Given the description of an element on the screen output the (x, y) to click on. 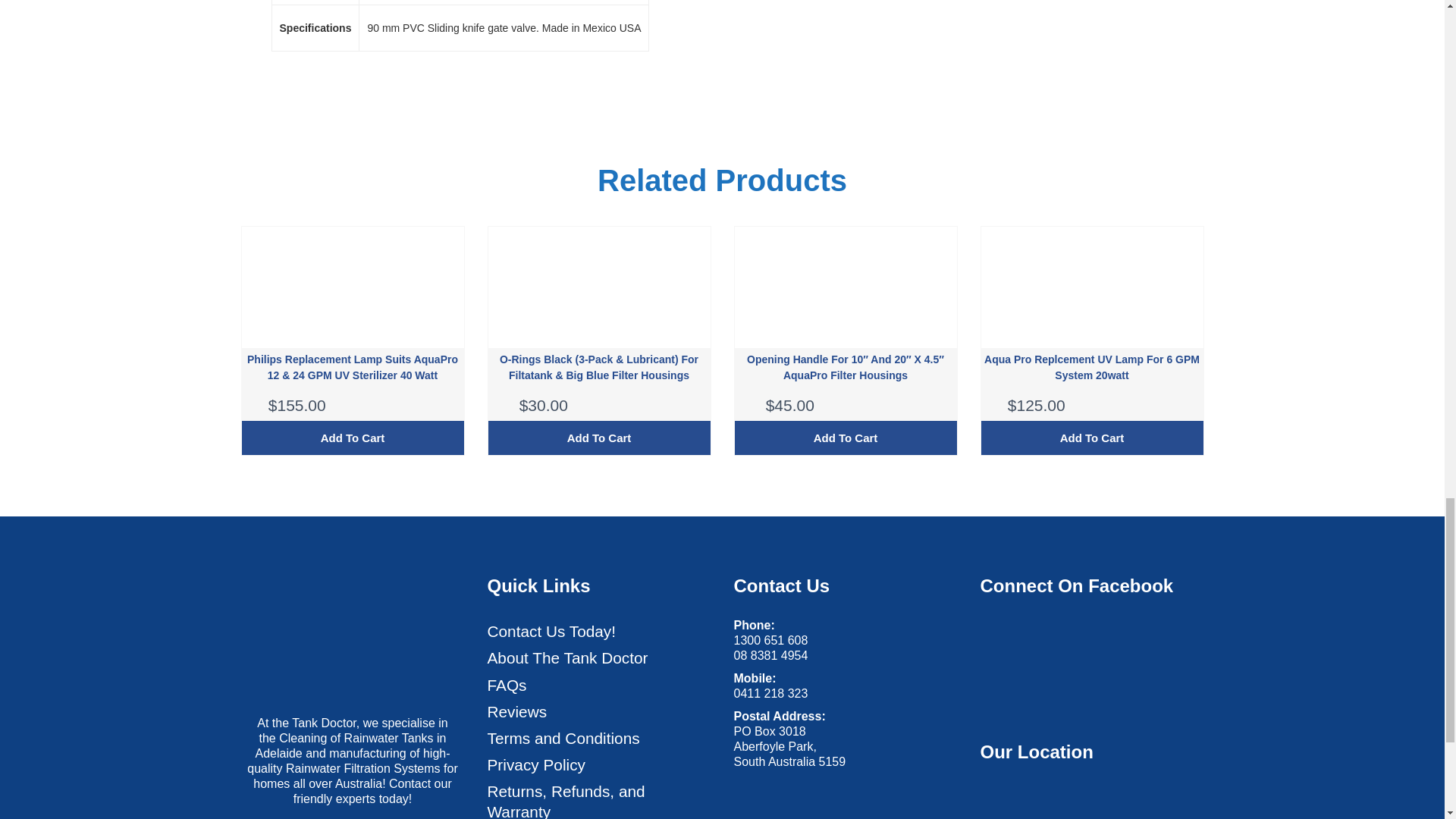
Aqua Pro Replcement UV Lamp for 6 GPM System 20watt (1092, 368)
